Given the description of an element on the screen output the (x, y) to click on. 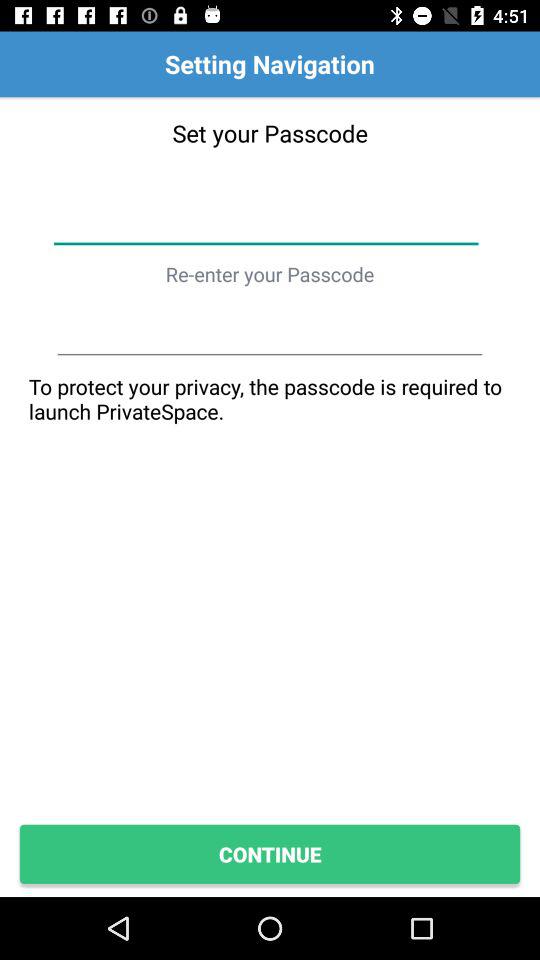
scroll to the continue button (269, 853)
